Given the description of an element on the screen output the (x, y) to click on. 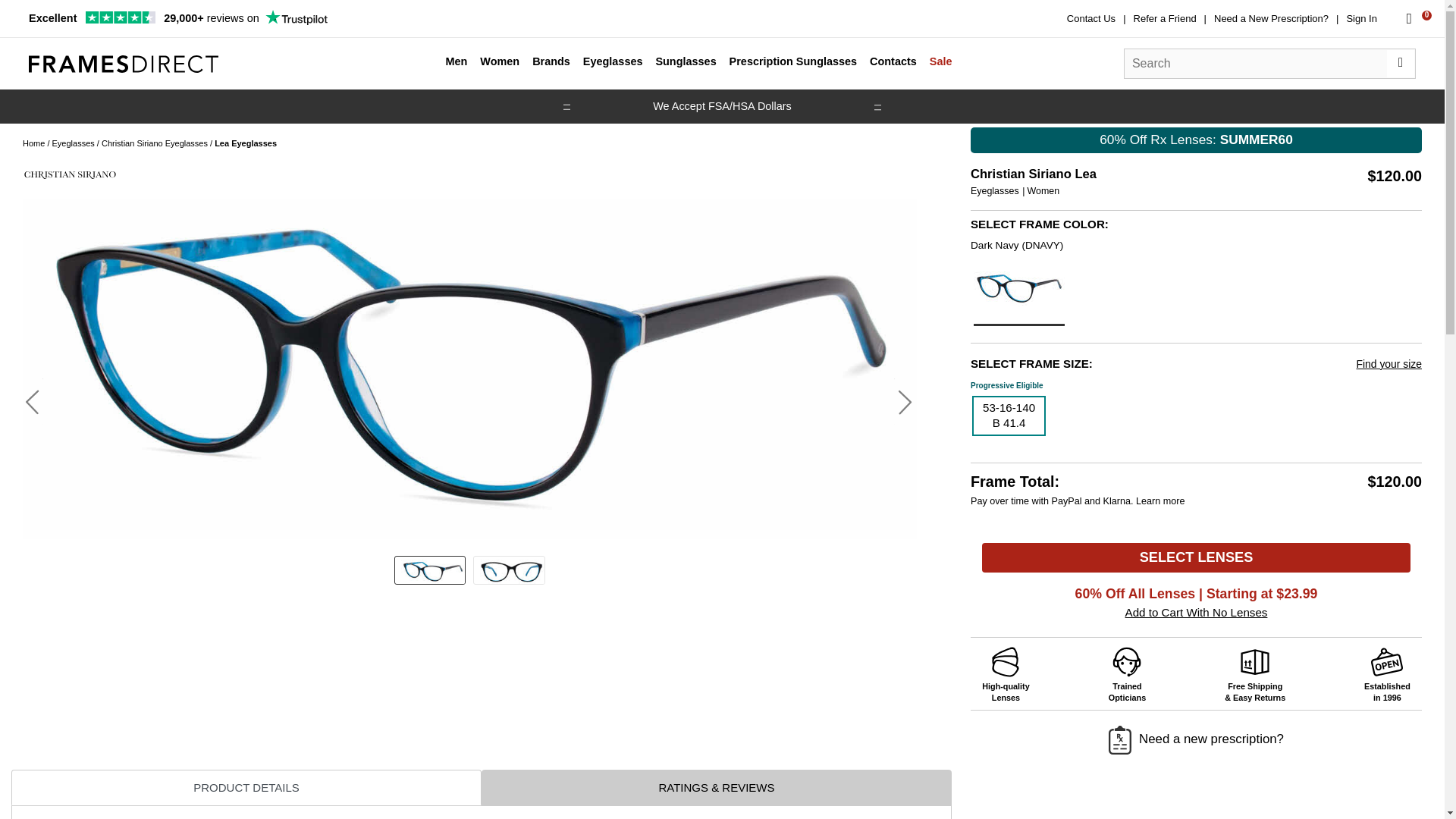
Sign In (1360, 18)
Refer a Friend (1165, 18)
Find an eyecare professional to get a new prescription (1270, 18)
Need a New Prescription? (1270, 18)
Contact Us (1091, 18)
